Given the description of an element on the screen output the (x, y) to click on. 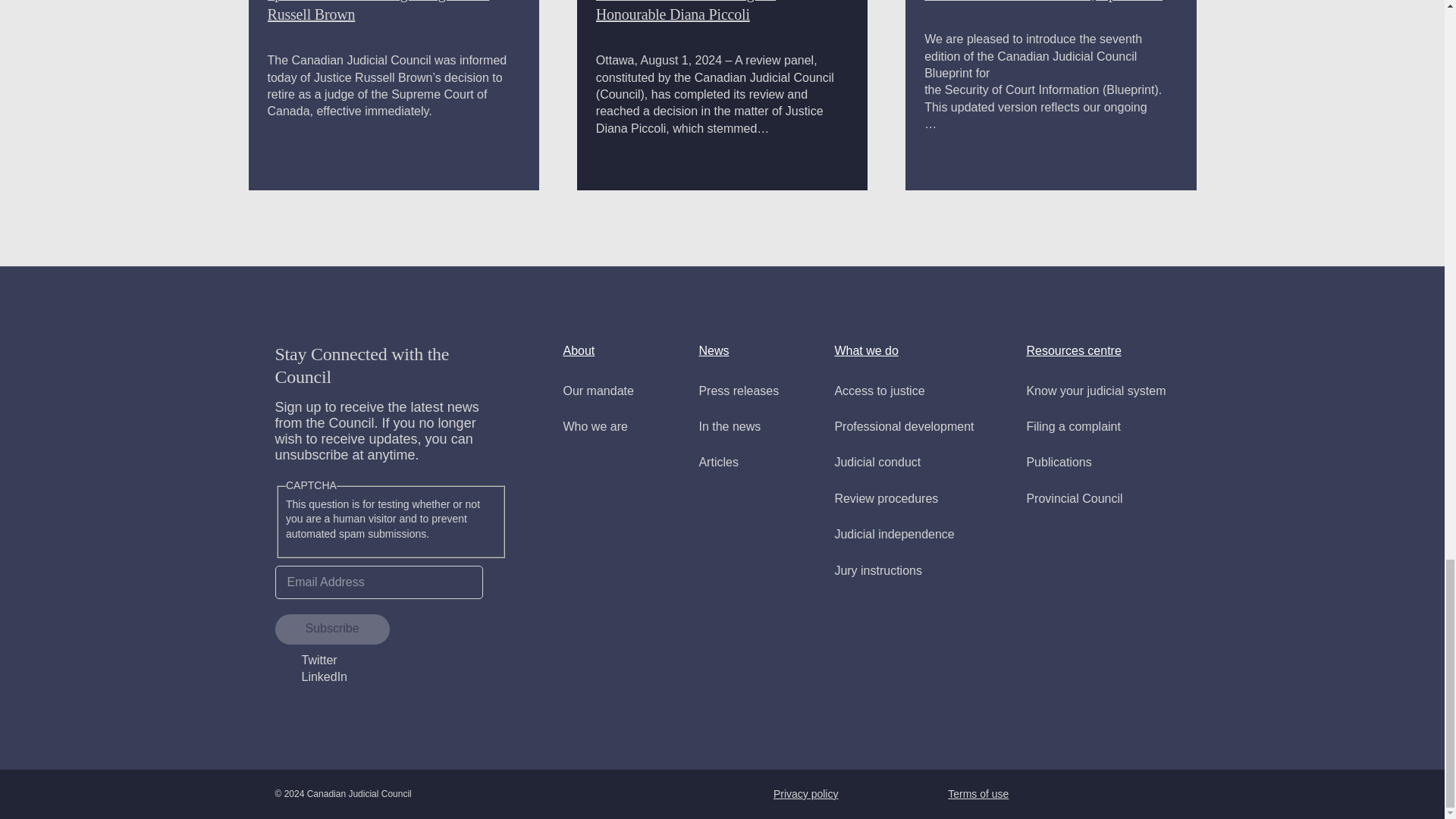
Subscribe (331, 629)
